Given the description of an element on the screen output the (x, y) to click on. 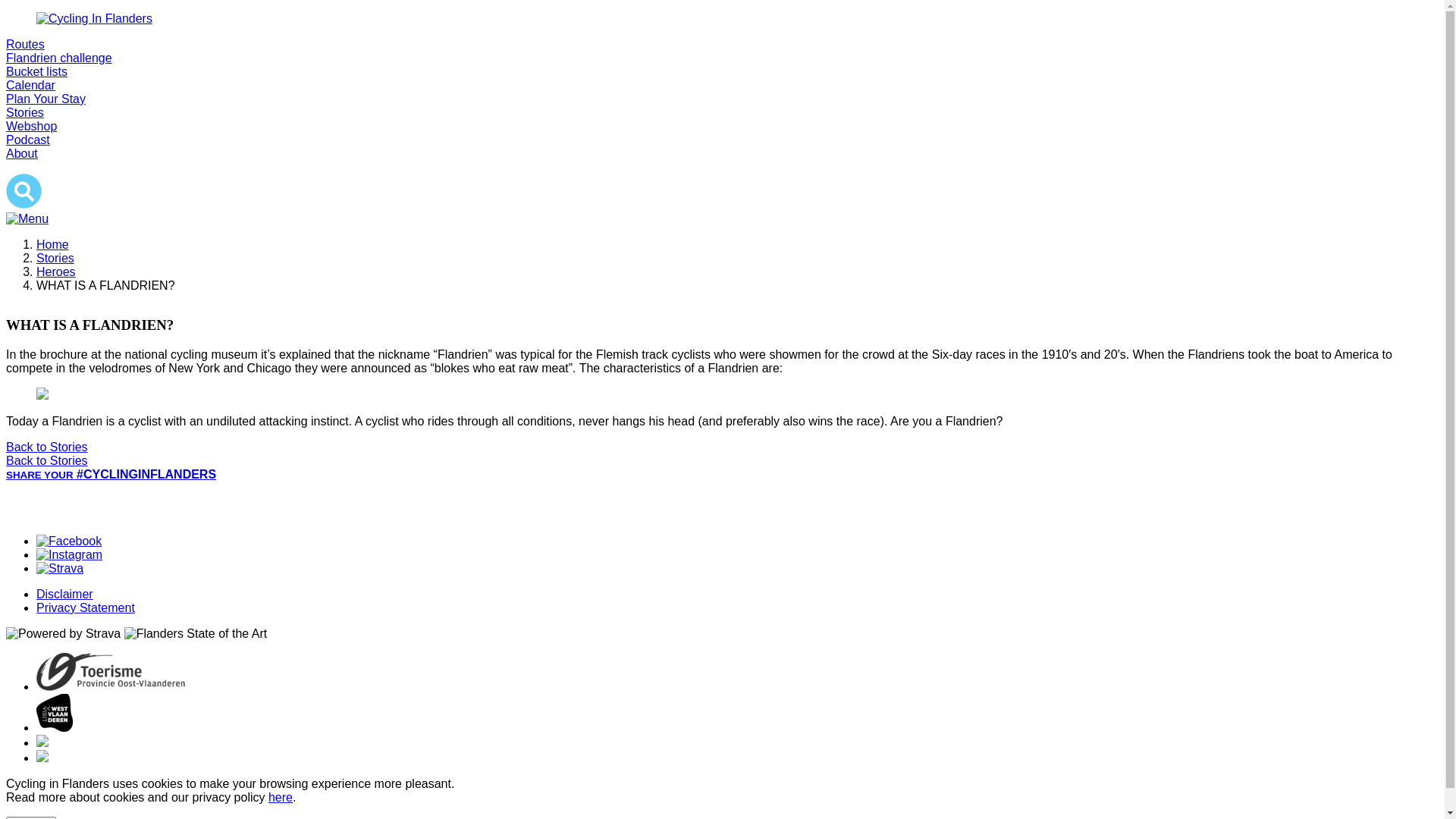
Flandrien challenge Element type: text (59, 57)
Search Element type: hover (23, 190)
Back to Stories Element type: text (46, 460)
Webshop Element type: text (31, 125)
Back to Stories Element type: text (46, 446)
Stories Element type: text (24, 112)
here Element type: text (280, 796)
Privacy Statement Element type: text (85, 607)
About Element type: text (21, 153)
Plan Your Stay Element type: text (45, 98)
Podcast Element type: text (28, 139)
Home Element type: text (52, 244)
Stories Element type: text (55, 257)
SHARE YOUR #CYCLINGINFLANDERS Element type: text (111, 473)
Routes Element type: text (25, 43)
Heroes Element type: text (55, 271)
Calendar Element type: text (30, 84)
Cycling In Flanders Element type: hover (722, 18)
Disclaimer Element type: text (64, 593)
Menu Element type: hover (27, 218)
Bucket lists Element type: text (36, 71)
